Given the description of an element on the screen output the (x, y) to click on. 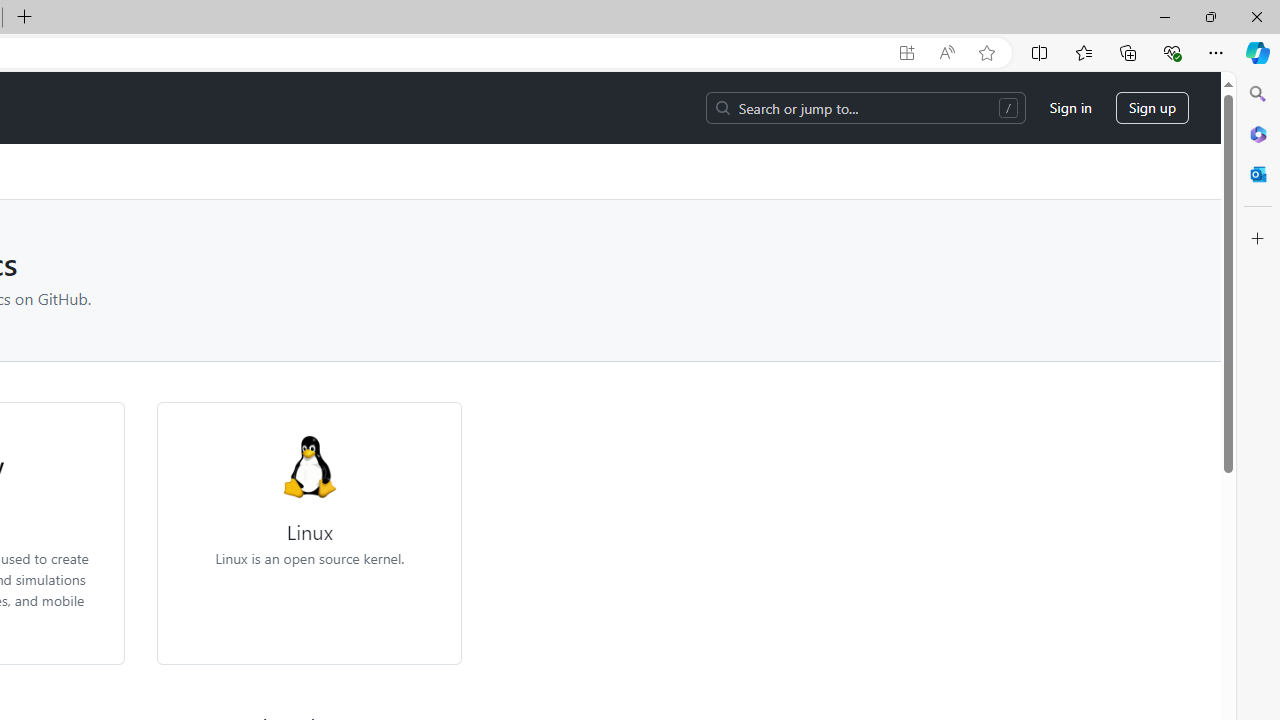
App available. Install GitHub (906, 53)
linux (308, 466)
Sign up (1152, 107)
linux Linux Linux is an open source kernel. (309, 501)
